Given the description of an element on the screen output the (x, y) to click on. 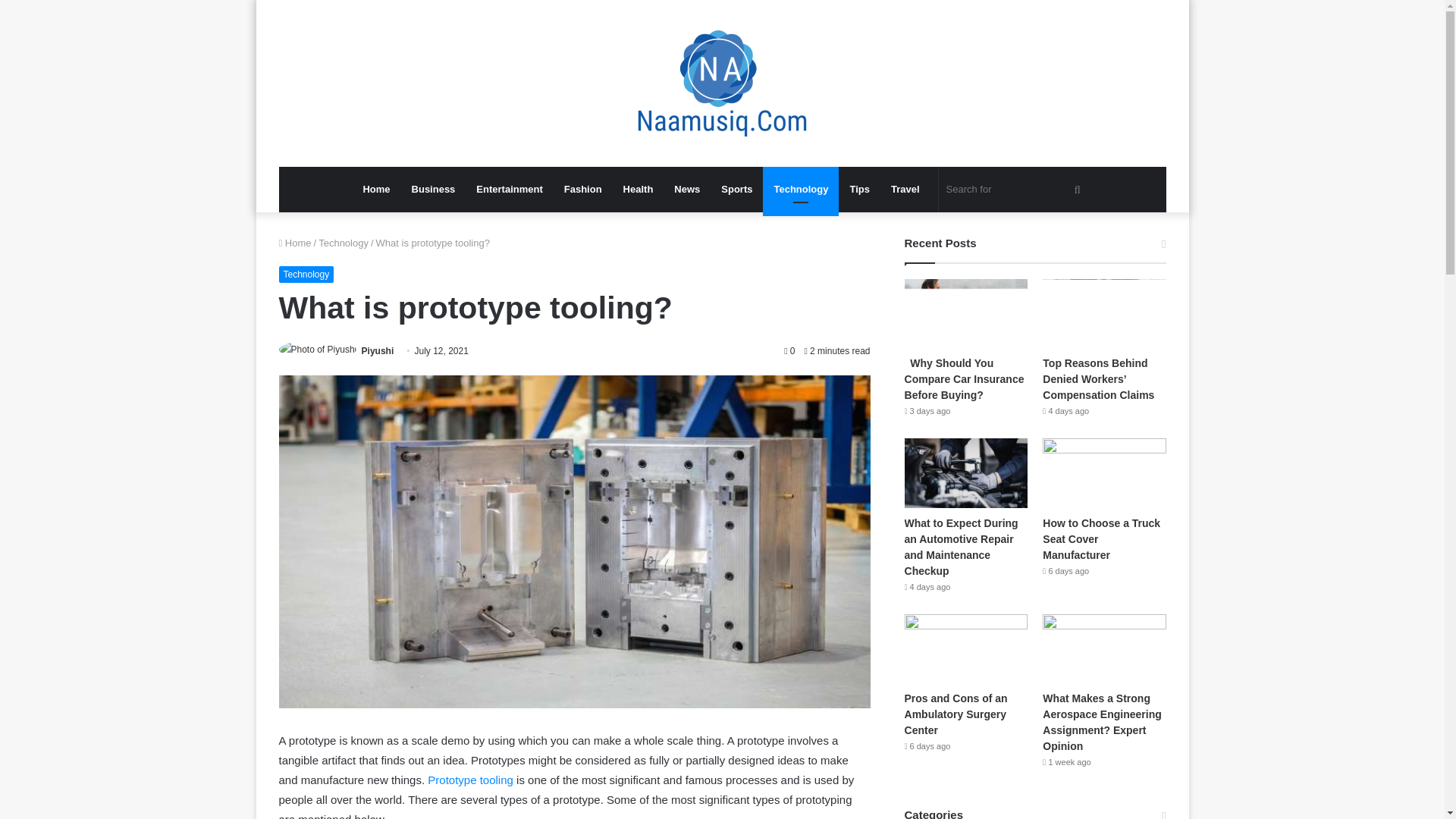
Health (637, 189)
Technology (800, 189)
News (686, 189)
Sports (736, 189)
Technology (306, 274)
NAAMUSIQ (721, 83)
Entertainment (509, 189)
Business (433, 189)
Tips (859, 189)
Piyushi (377, 350)
Search for (1016, 189)
Home (376, 189)
Piyushi (377, 350)
Fashion (582, 189)
Technology (343, 242)
